Given the description of an element on the screen output the (x, y) to click on. 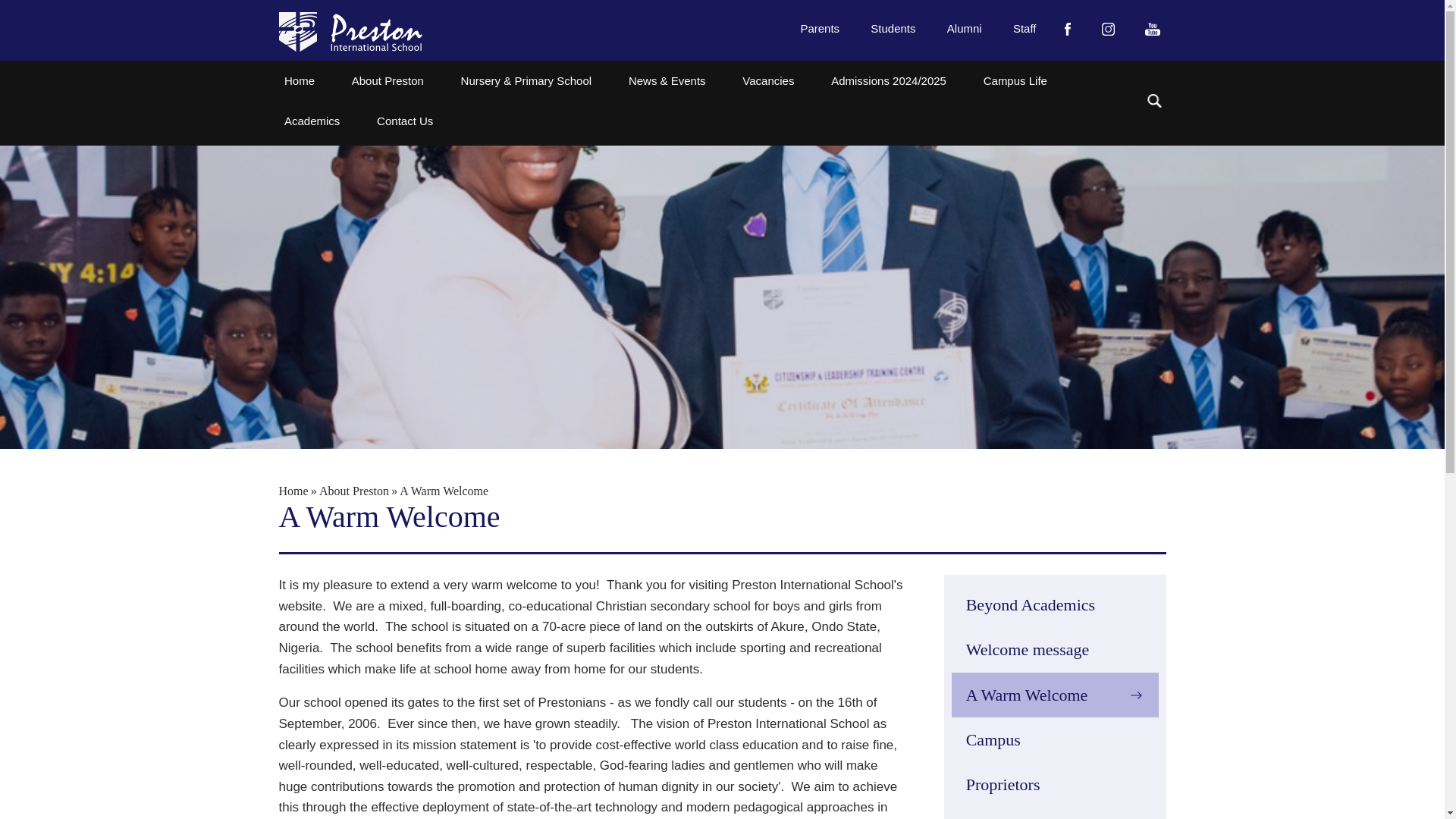
Preston International School (350, 31)
Alumni (963, 27)
About Preston (387, 80)
Home (299, 80)
Students (892, 27)
Staff (1024, 27)
Parents (819, 27)
